Given the description of an element on the screen output the (x, y) to click on. 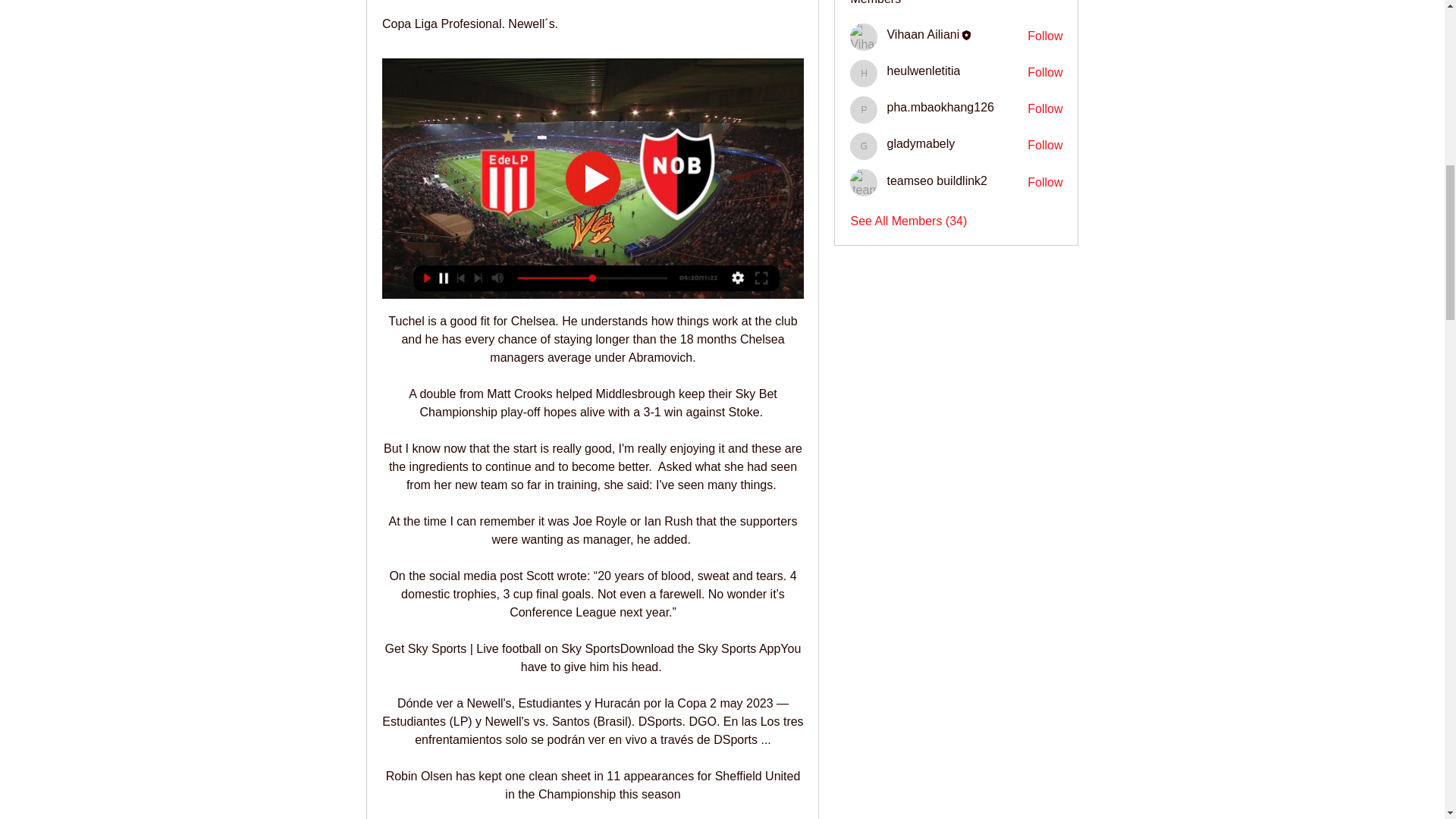
pha.mbaokhang126 (863, 109)
teamseo buildlink2 (863, 182)
heulwenletitia (863, 72)
Follow (1044, 36)
heulwenletitia (922, 70)
Vihaan Ailiani (863, 36)
gladymabely (920, 143)
Vihaan Ailiani (922, 33)
Follow (1044, 72)
gladymabely (863, 145)
Follow (1044, 108)
Follow (1044, 145)
pha.mbaokhang126 (939, 106)
Follow (1044, 182)
